Given the description of an element on the screen output the (x, y) to click on. 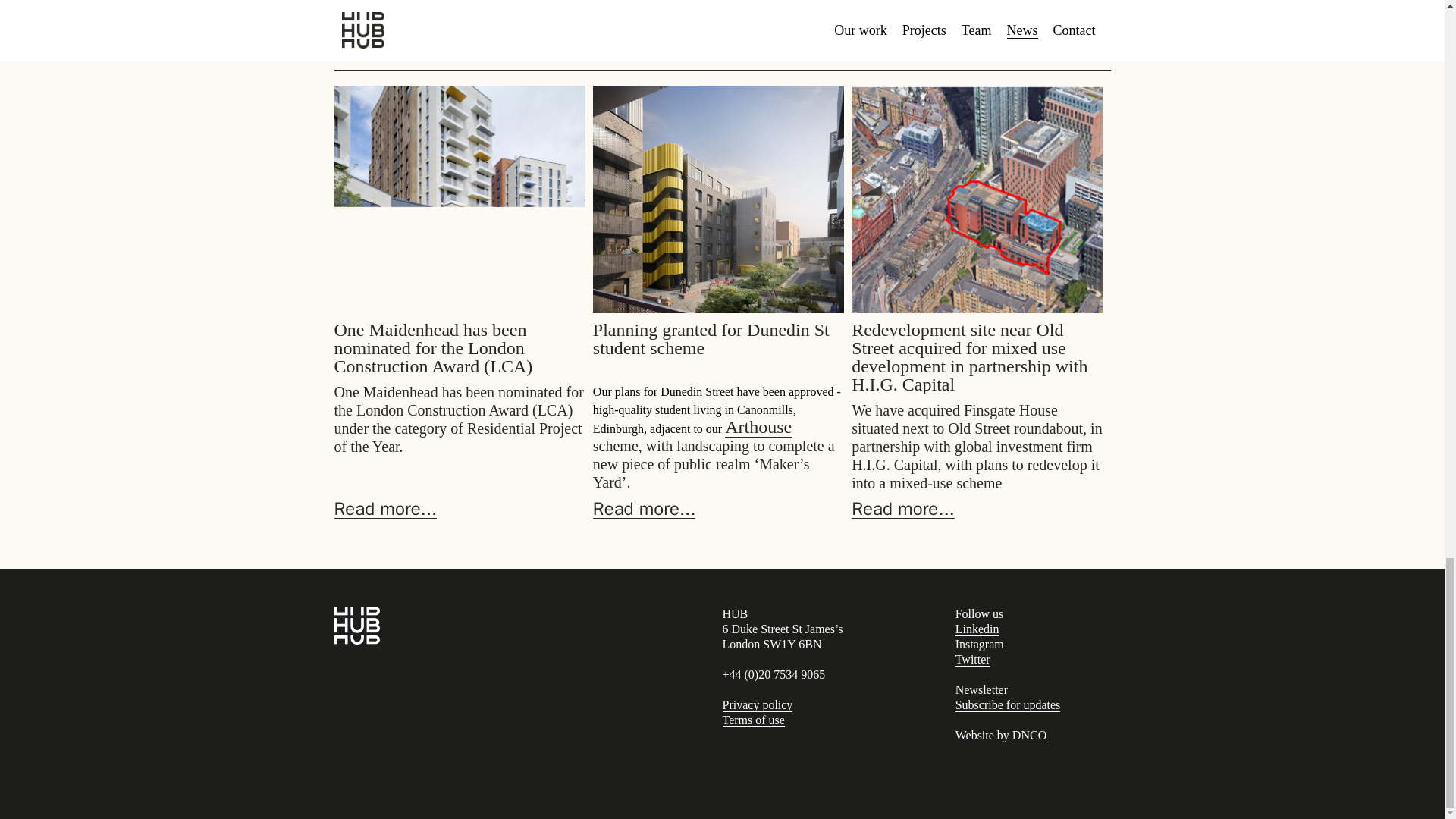
Terms of use (753, 720)
Read more... (384, 508)
Subscribe for updates (1008, 704)
Arthouse (758, 426)
Linkedin (976, 629)
Privacy policy (757, 704)
Read more... (903, 508)
Instagram (979, 644)
Read more... (643, 508)
DNCO (1028, 735)
Twitter (972, 659)
